Given the description of an element on the screen output the (x, y) to click on. 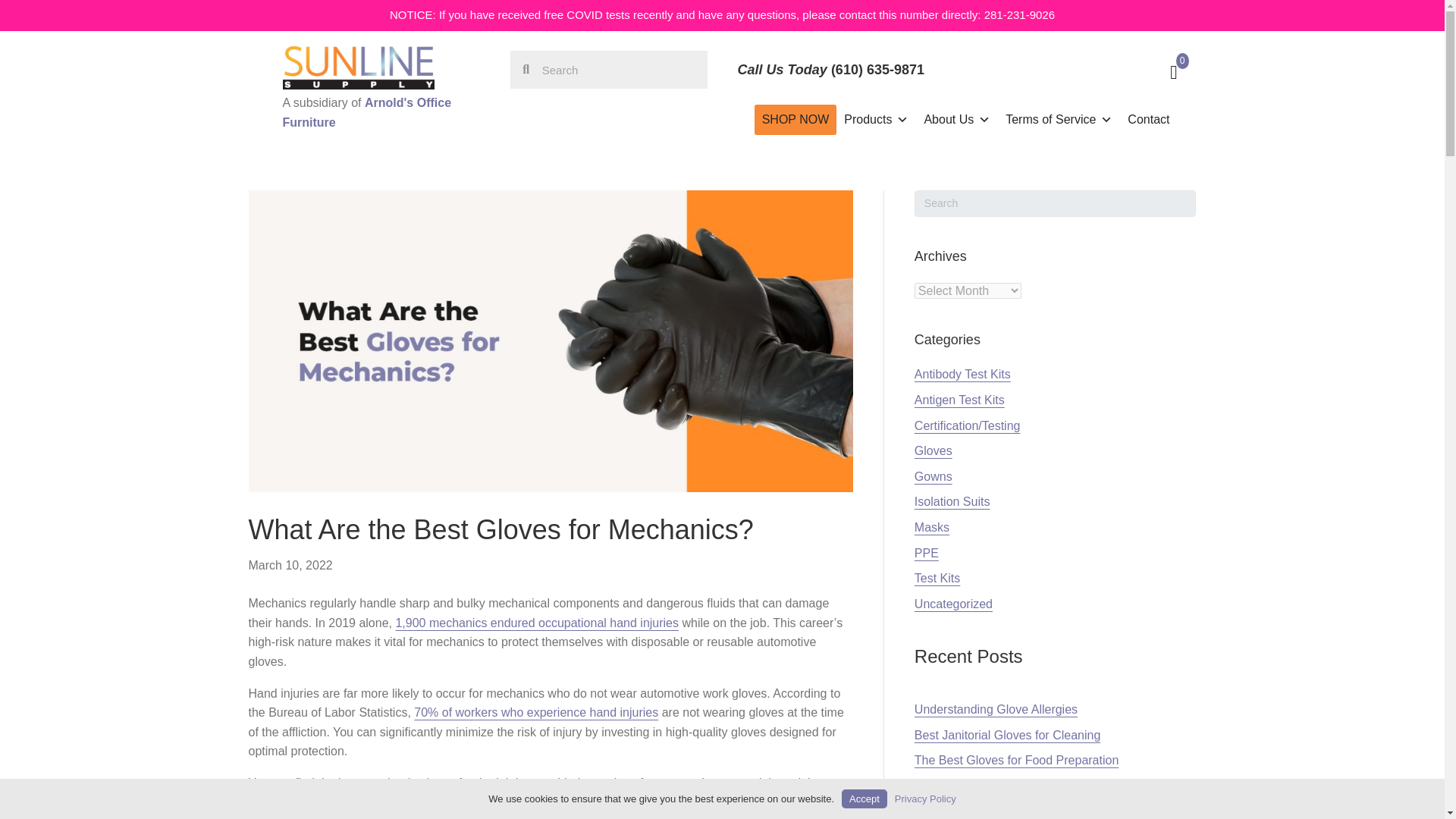
Terms of Service (1058, 119)
Search (617, 69)
SHOP NOW (795, 119)
1,900 mechanics endured occupational hand injuries (536, 622)
About Us (956, 119)
Type and press Enter to search. (1055, 203)
Products (875, 119)
0 (1069, 67)
Arnold's Office Furniture (366, 112)
Contact (1147, 119)
